Given the description of an element on the screen output the (x, y) to click on. 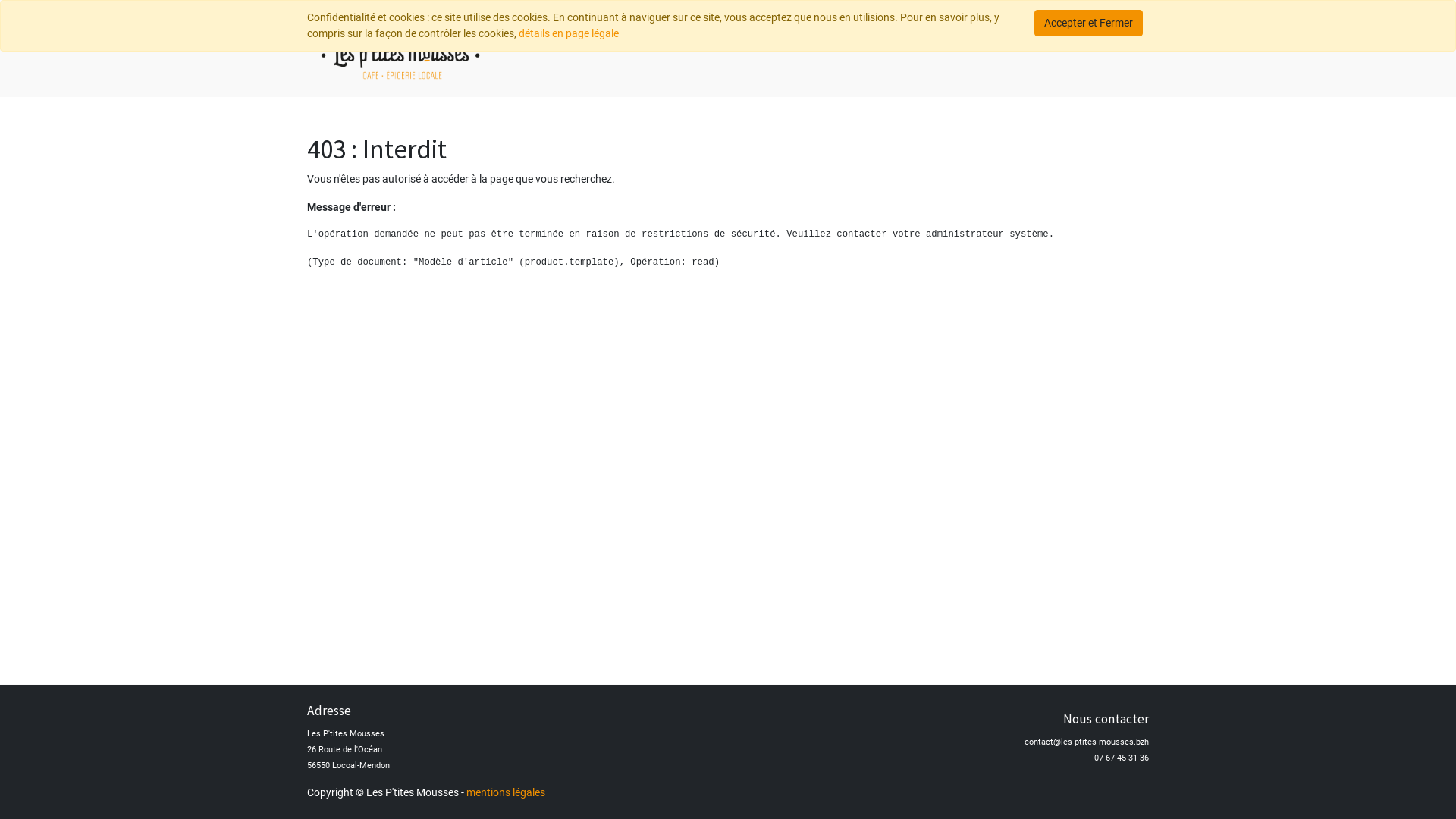
Accepter et Fermer Element type: text (1088, 22)
